Given the description of an element on the screen output the (x, y) to click on. 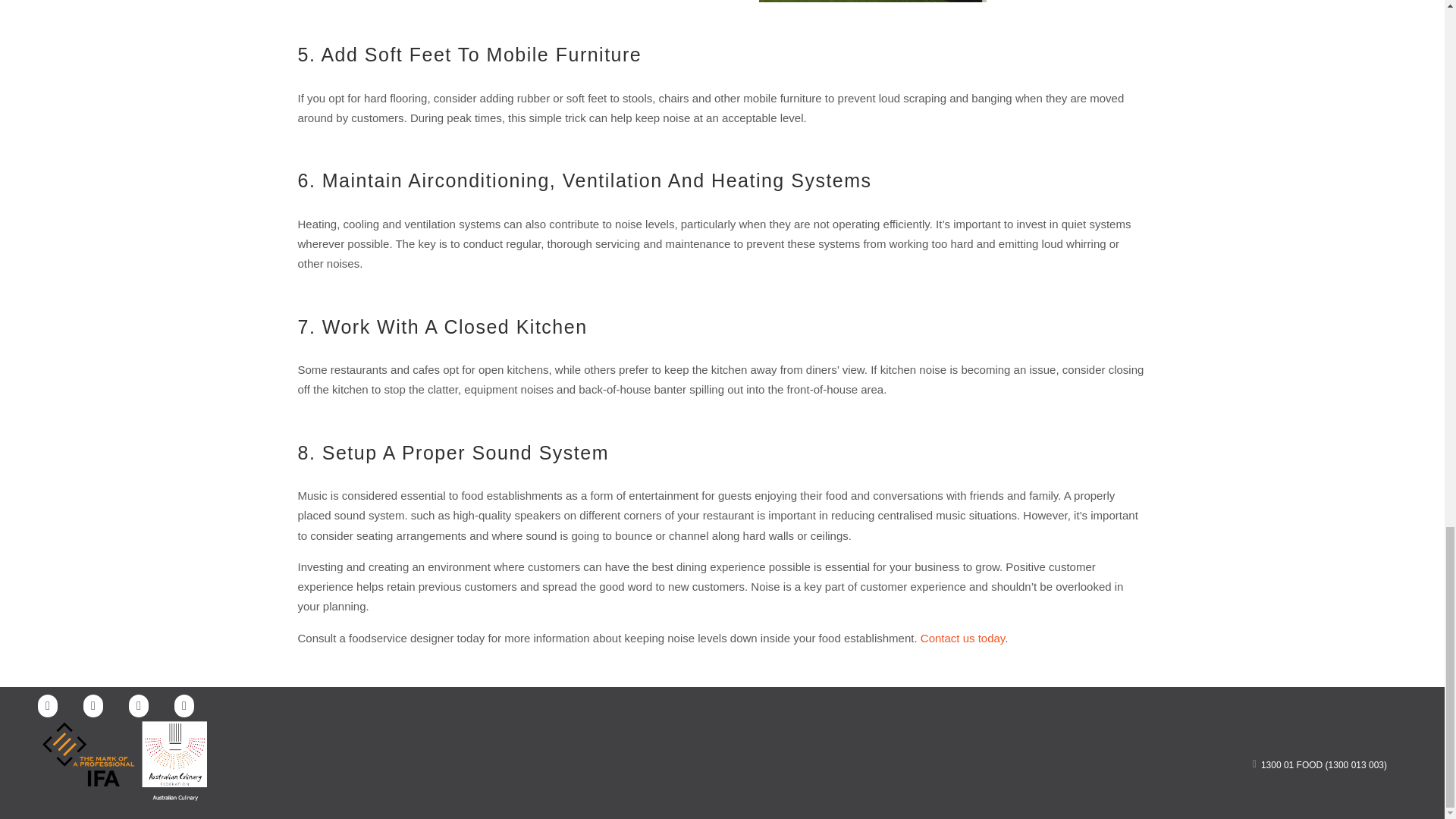
Contact us today (962, 636)
